Given the description of an element on the screen output the (x, y) to click on. 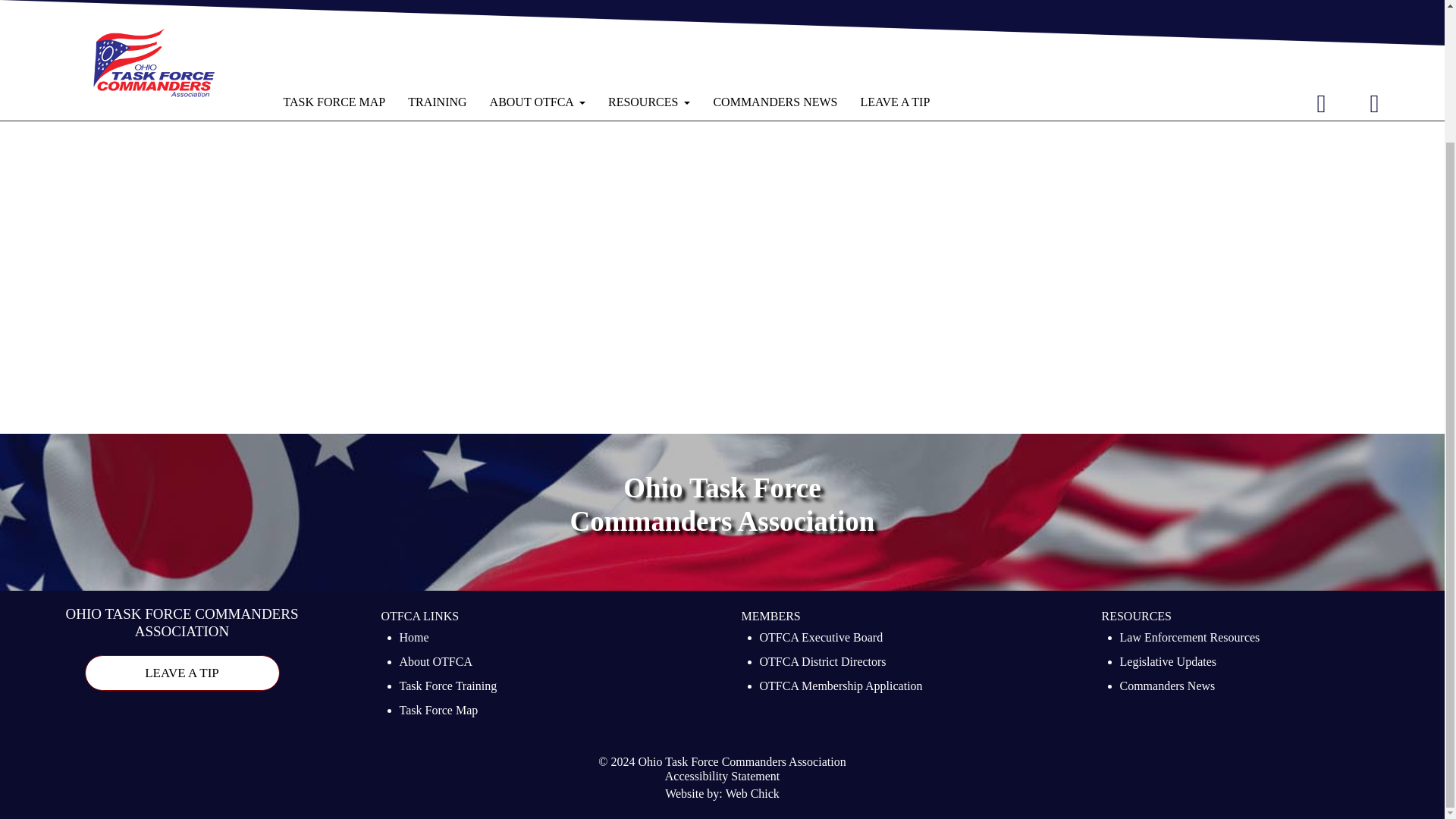
OTFCA Executive Board (821, 639)
Task Force Map (437, 711)
Legislative Updates (1167, 663)
LEAVE A TIP (181, 673)
About OTFCA (434, 663)
OTFCA District Directors (823, 663)
home page (460, 25)
Law Enforcement Resources (1189, 639)
OTFCA Membership Application (841, 687)
Accessibility Statement (722, 777)
Home (413, 639)
Web Chick (751, 794)
Task Force Training (447, 687)
Commanders News (1166, 687)
leave a tip button (181, 673)
